Given the description of an element on the screen output the (x, y) to click on. 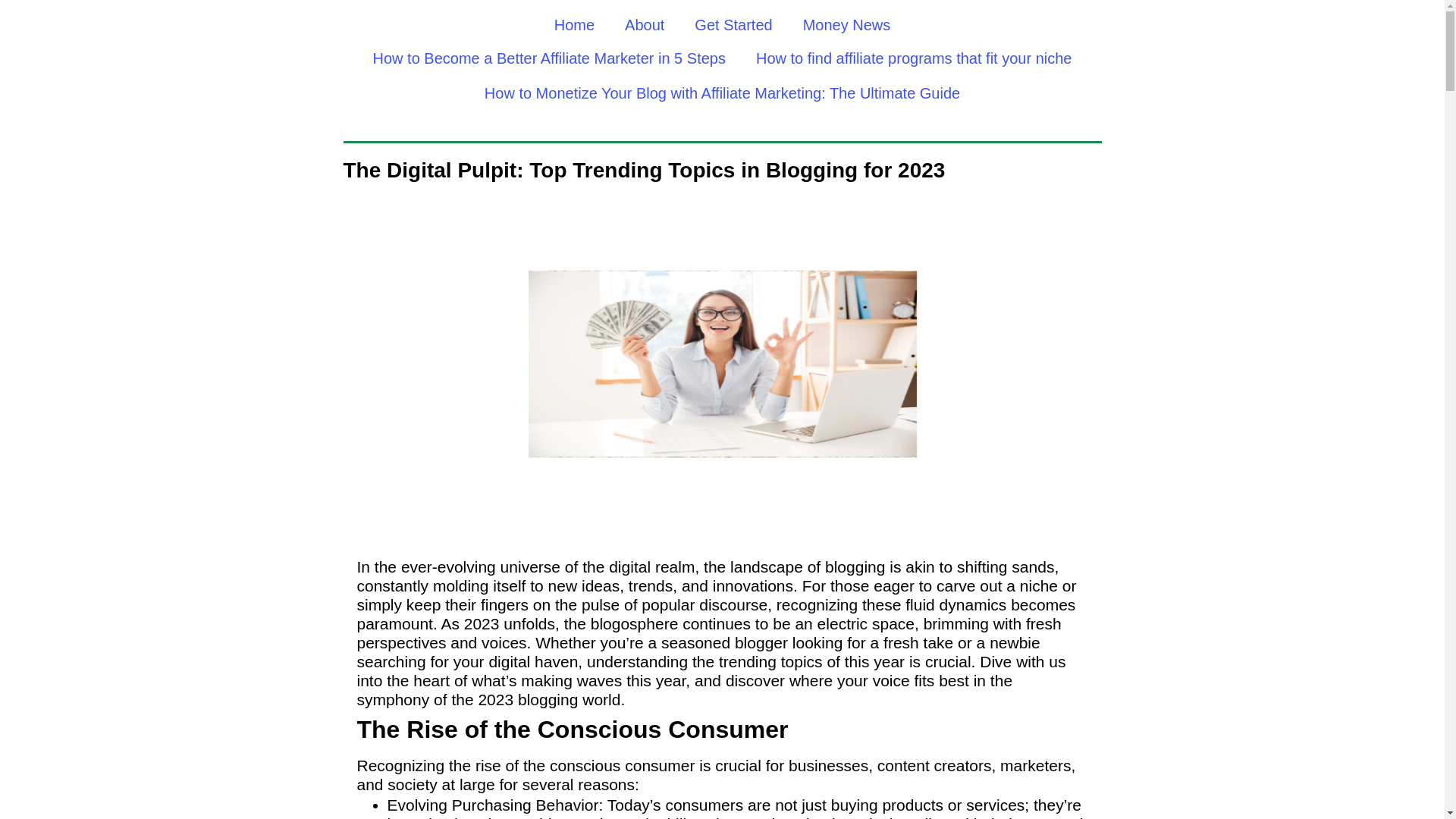
Home (574, 24)
Money News (846, 24)
About (644, 24)
How to find affiliate programs that fit your niche (914, 58)
Get Started (733, 24)
How to Become a Better Affiliate Marketer in 5 Steps (549, 58)
